Given the description of an element on the screen output the (x, y) to click on. 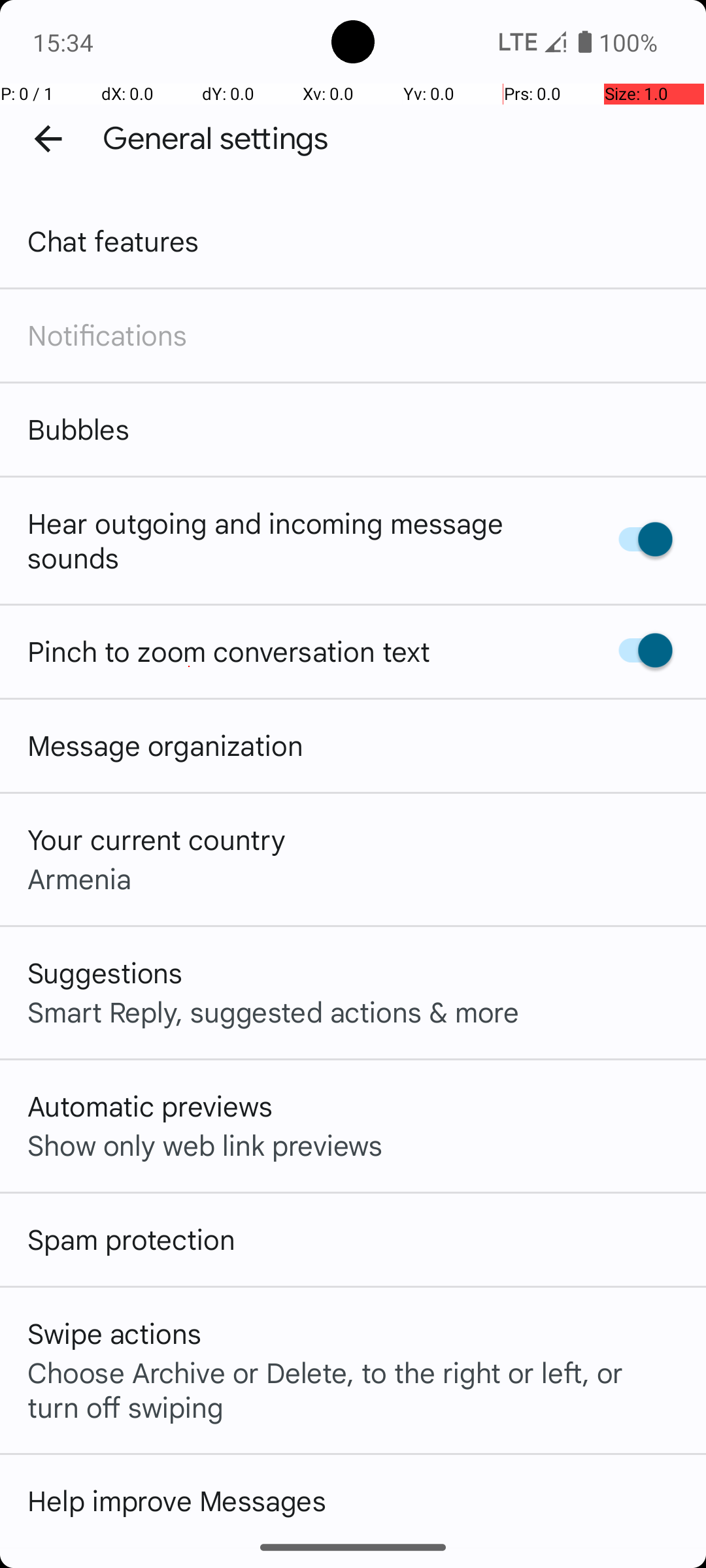
General settings Element type: android.widget.TextView (215, 138)
Chat features Element type: android.widget.TextView (113, 240)
Hear outgoing and incoming message sounds Element type: android.widget.TextView (299, 539)
Pinch to zoom conversation text Element type: android.widget.TextView (228, 650)
Message organization Element type: android.widget.TextView (165, 744)
Your current country Element type: android.widget.TextView (156, 838)
Armenia Element type: android.widget.TextView (79, 877)
Smart Reply, suggested actions & more Element type: android.widget.TextView (273, 1010)
Automatic previews Element type: android.widget.TextView (149, 1105)
Show only web link previews Element type: android.widget.TextView (205, 1144)
Spam protection Element type: android.widget.TextView (131, 1238)
Swipe actions Element type: android.widget.TextView (114, 1332)
Choose Archive or Delete, to the right or left, or turn off swiping Element type: android.widget.TextView (352, 1388)
Help improve Messages Element type: android.widget.TextView (176, 1499)
